Given the description of an element on the screen output the (x, y) to click on. 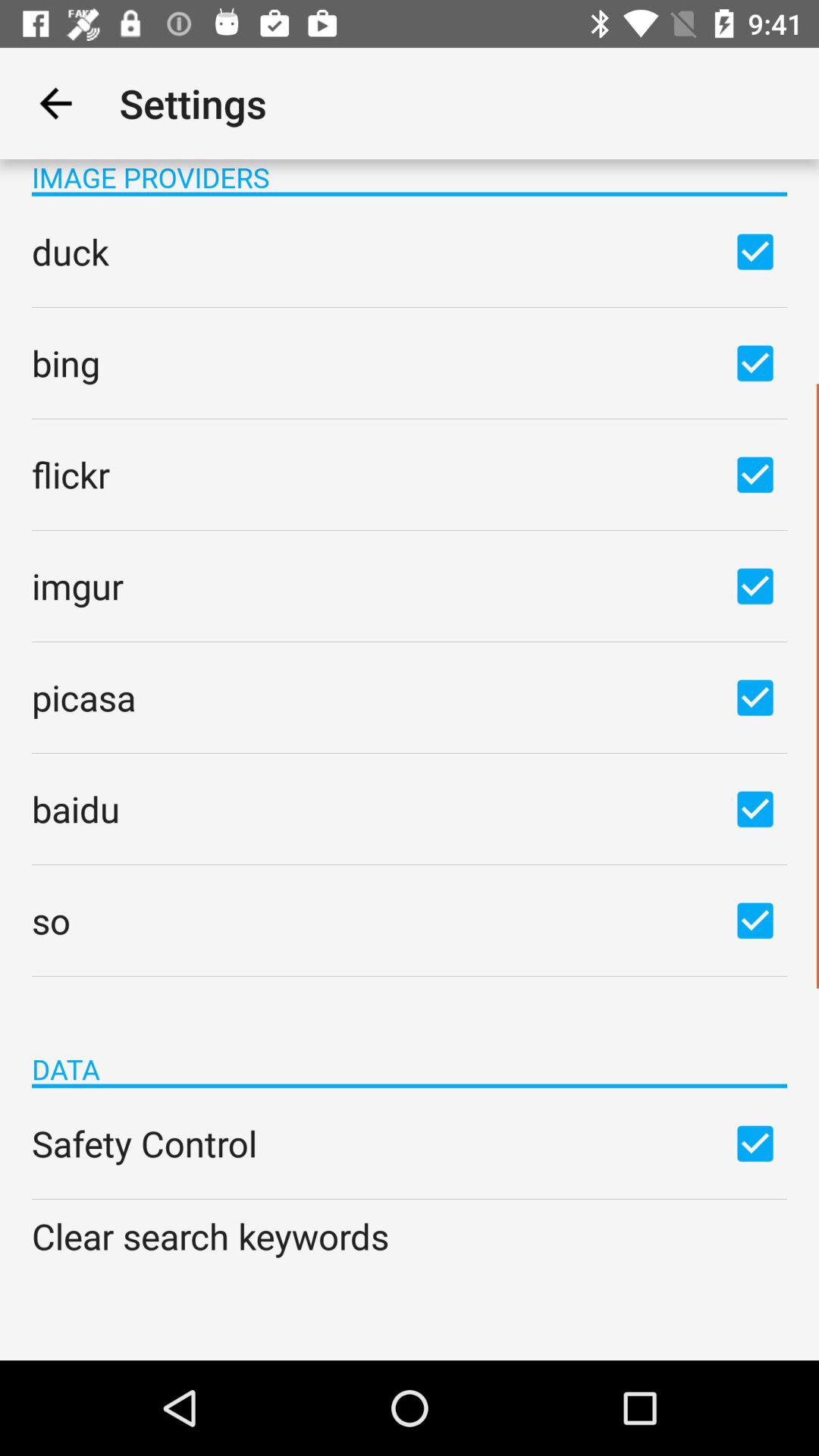
select or deselect an image provider (755, 362)
